Given the description of an element on the screen output the (x, y) to click on. 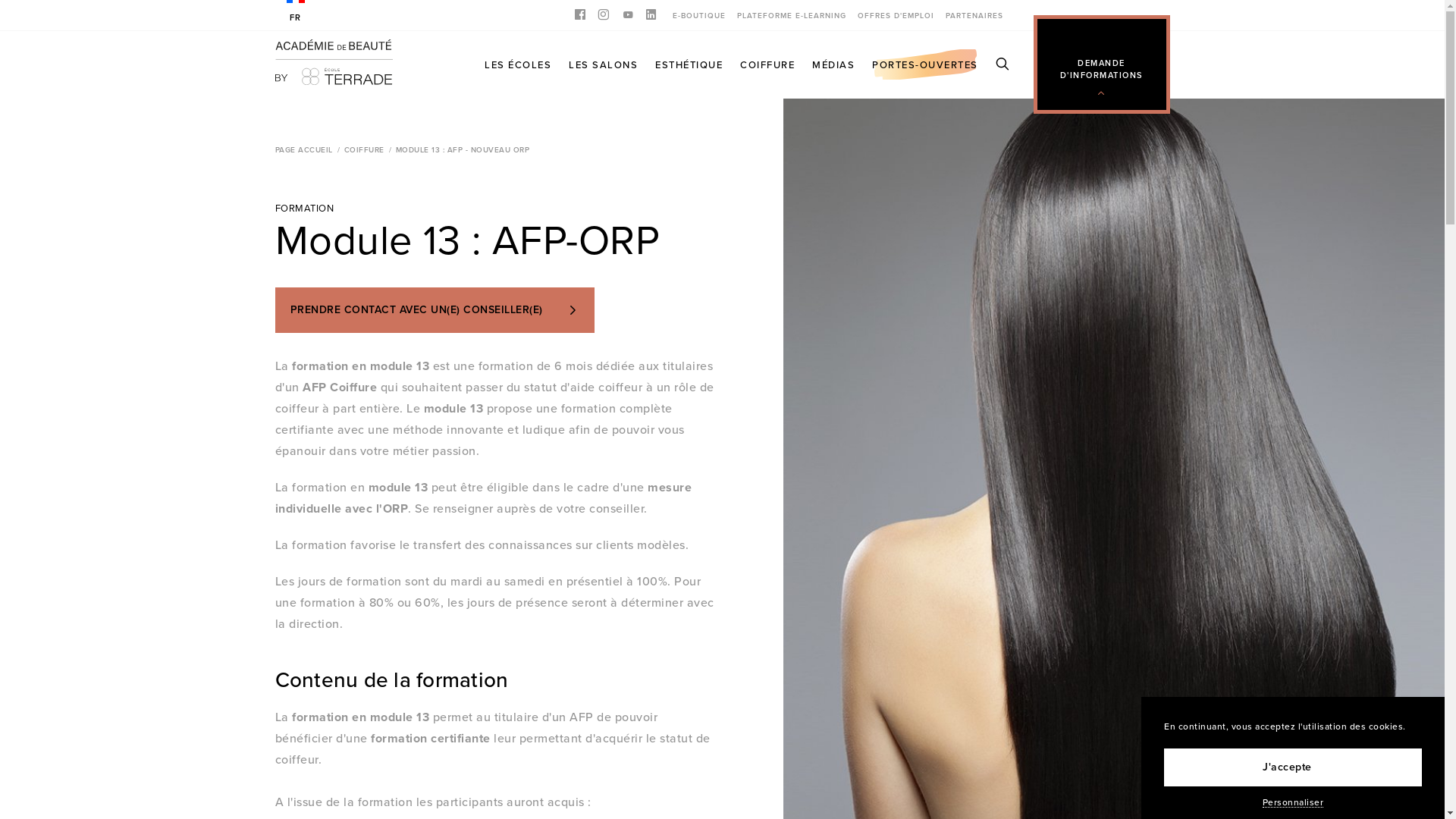
PAGE ACCUEIL Element type: text (303, 149)
COIFFURE Element type: text (364, 149)
PORTES-OUVERTES Element type: text (925, 64)
PRENDRE CONTACT AVEC UN(E) CONSEILLER(E) Element type: text (434, 309)
OFFRES D'EMPLOI Element type: text (894, 14)
PARTENAIRES Element type: text (973, 14)
DEMANDE D'INFORMATIONS Element type: text (1101, 67)
PLATEFORME E-LEARNING Element type: text (791, 14)
FR Element type: text (295, 11)
E-BOUTIQUE Element type: text (697, 14)
